Given the description of an element on the screen output the (x, y) to click on. 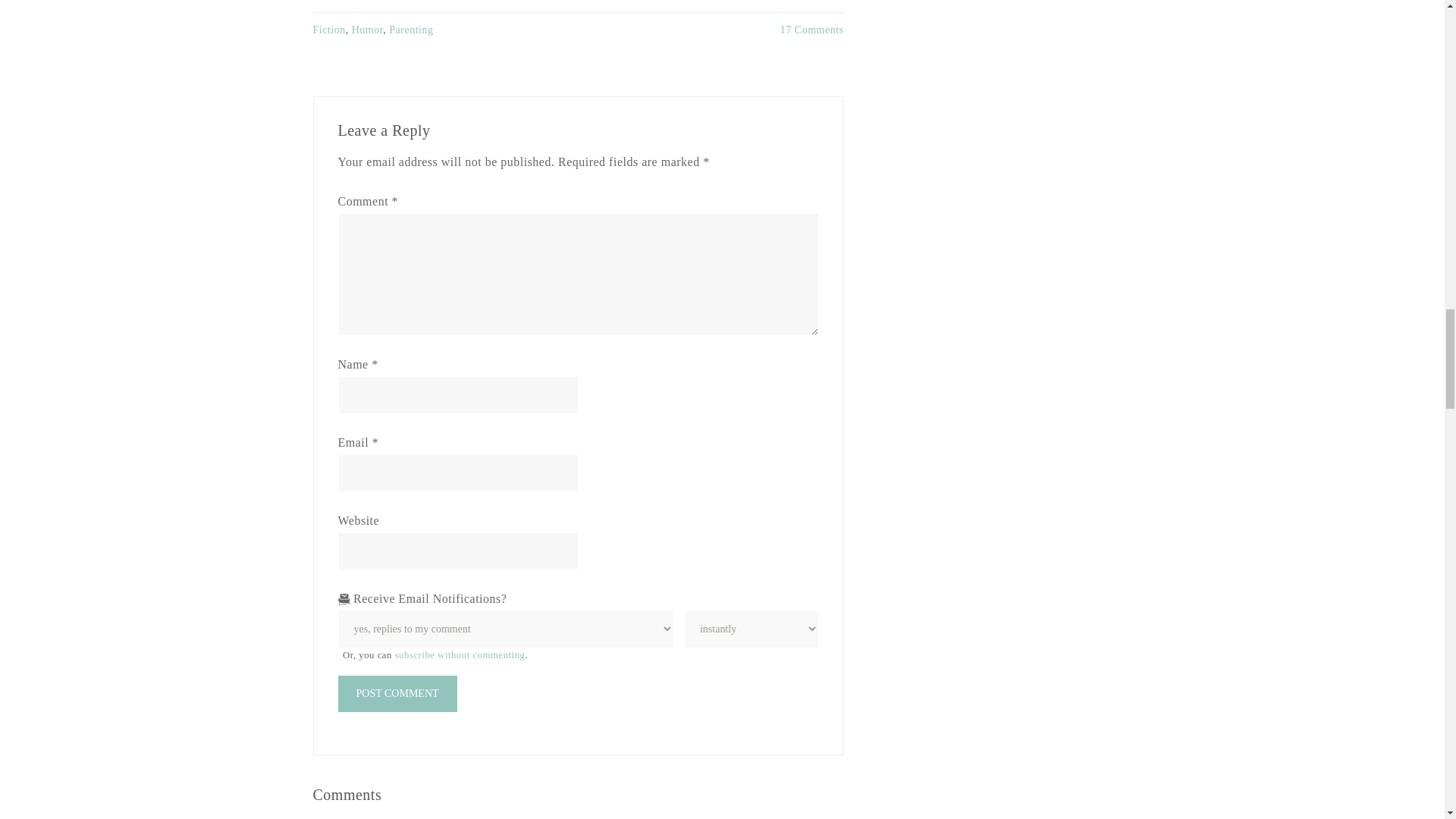
Post Comment (397, 693)
Receive Notifications? (506, 628)
Fiction (329, 30)
Humor (368, 30)
Post Comment (397, 693)
Parenting (410, 30)
17 Comments (812, 30)
Notify Me (751, 628)
subscribe without commenting (459, 655)
